Given the description of an element on the screen output the (x, y) to click on. 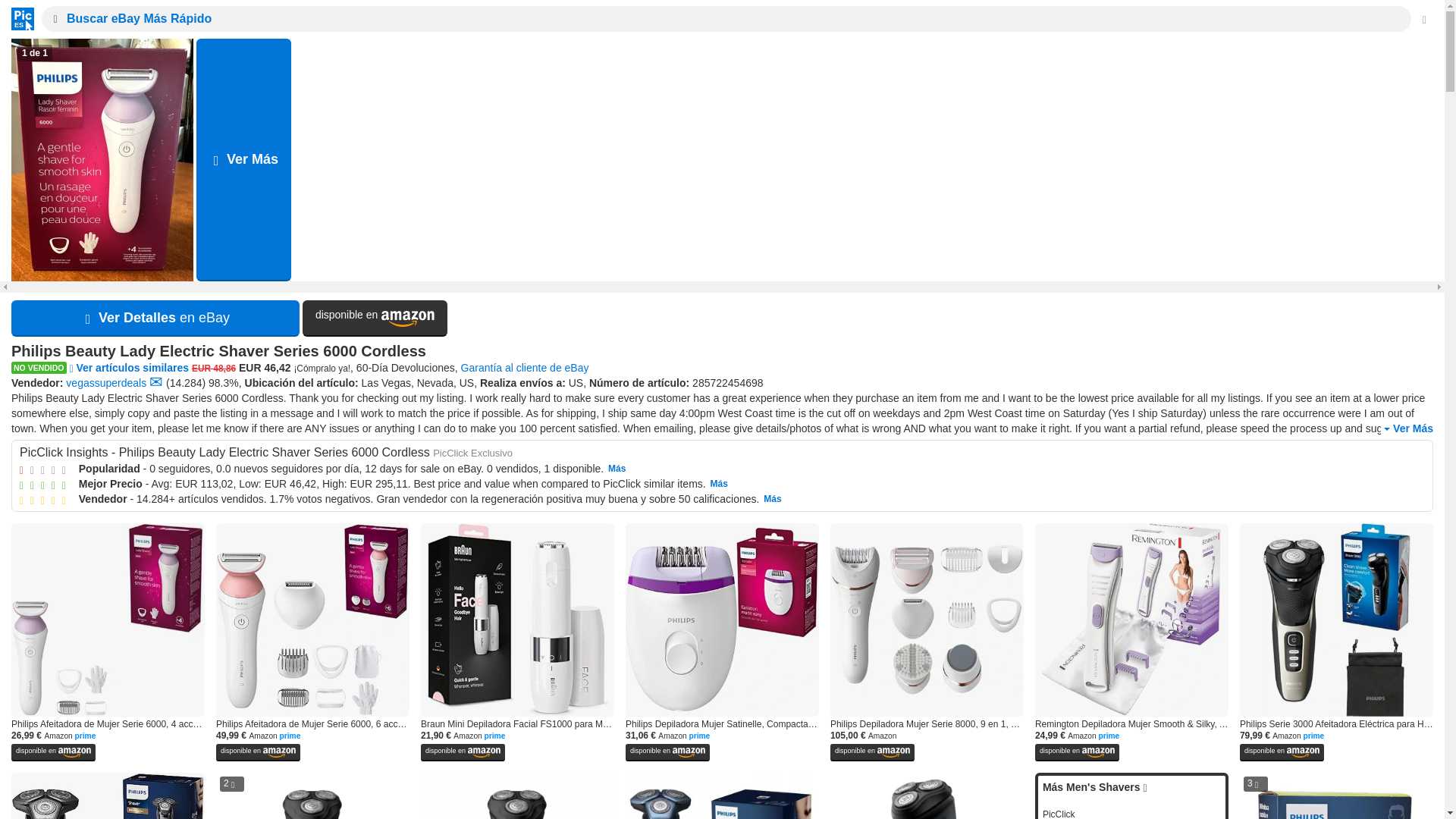
PicClick (18, 18)
vegassuperdeals (106, 382)
ES (18, 18)
PicClick Exclusivo (472, 452)
14.284 Positive Ratings (185, 382)
disponible en (374, 318)
eBay Item Number (727, 382)
Philips Beauty Lady Electric Shaver Series 6000 Cordless (721, 352)
Ver Detalles en eBay (155, 318)
disponible en Amazon (374, 318)
